Given the description of an element on the screen output the (x, y) to click on. 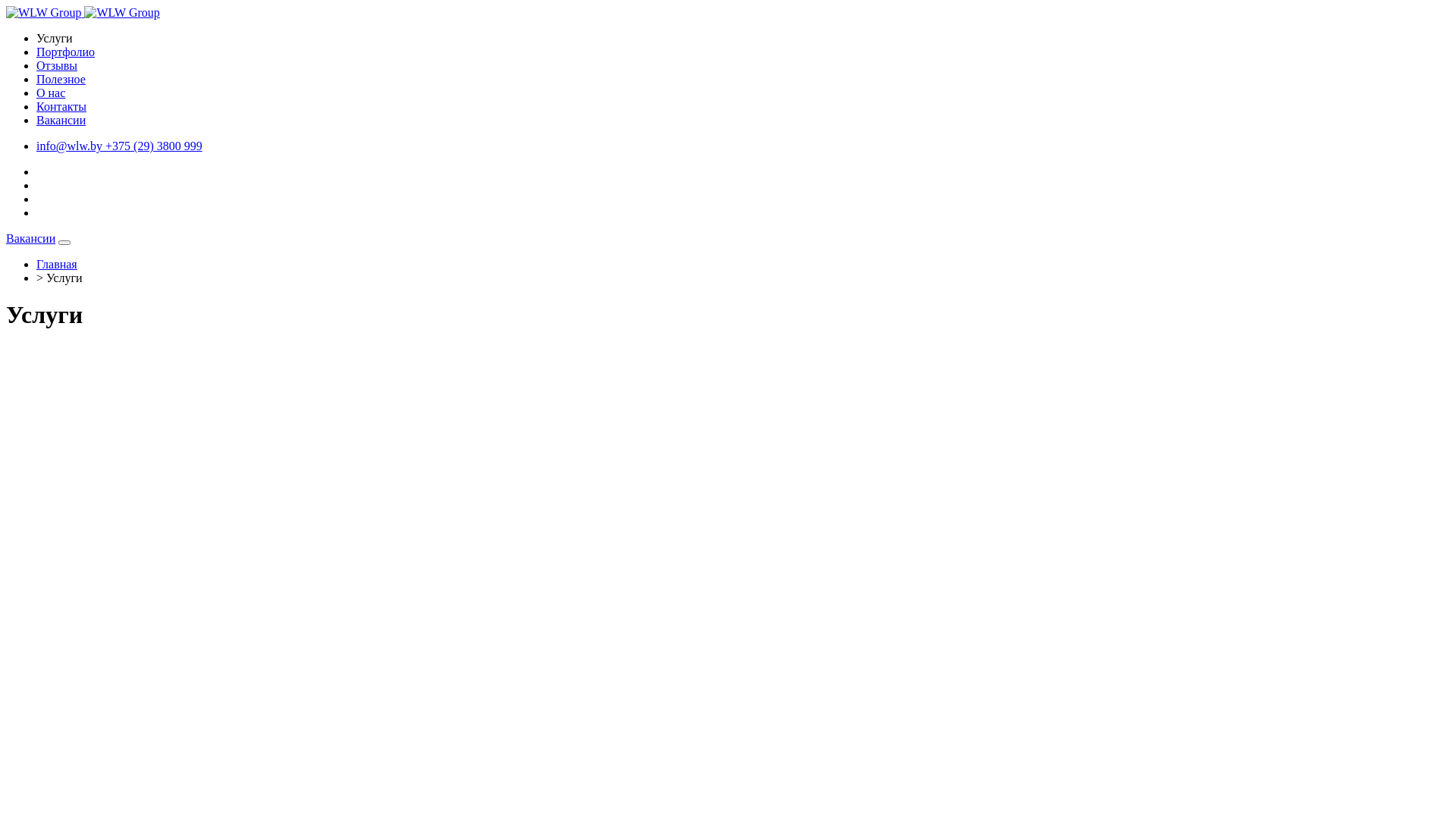
+375 (29) 3800 999 Element type: text (153, 145)
info@wlw.by Element type: text (70, 145)
